Given the description of an element on the screen output the (x, y) to click on. 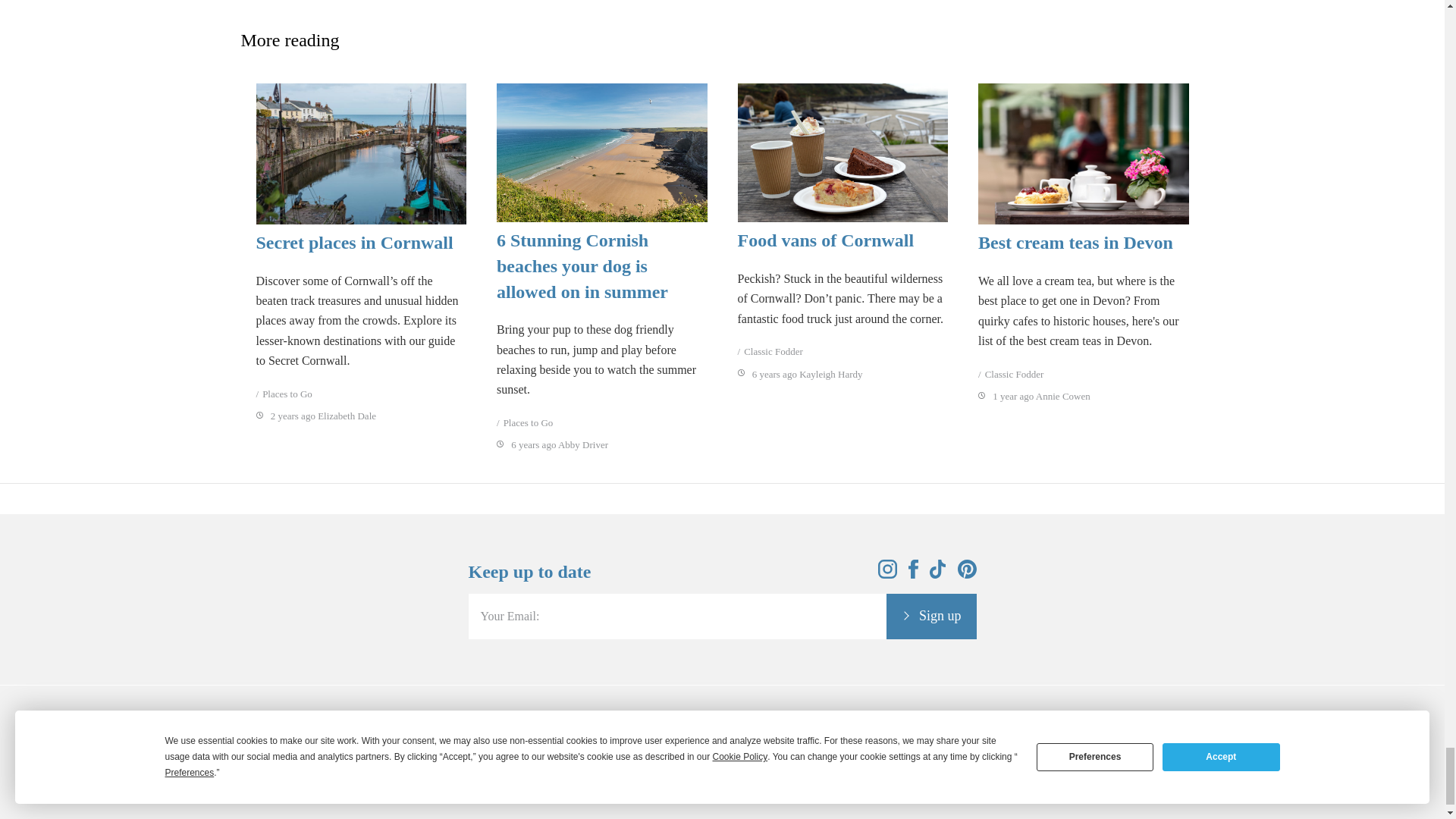
Follow Classic Cottages Instagram (886, 574)
